Given the description of an element on the screen output the (x, y) to click on. 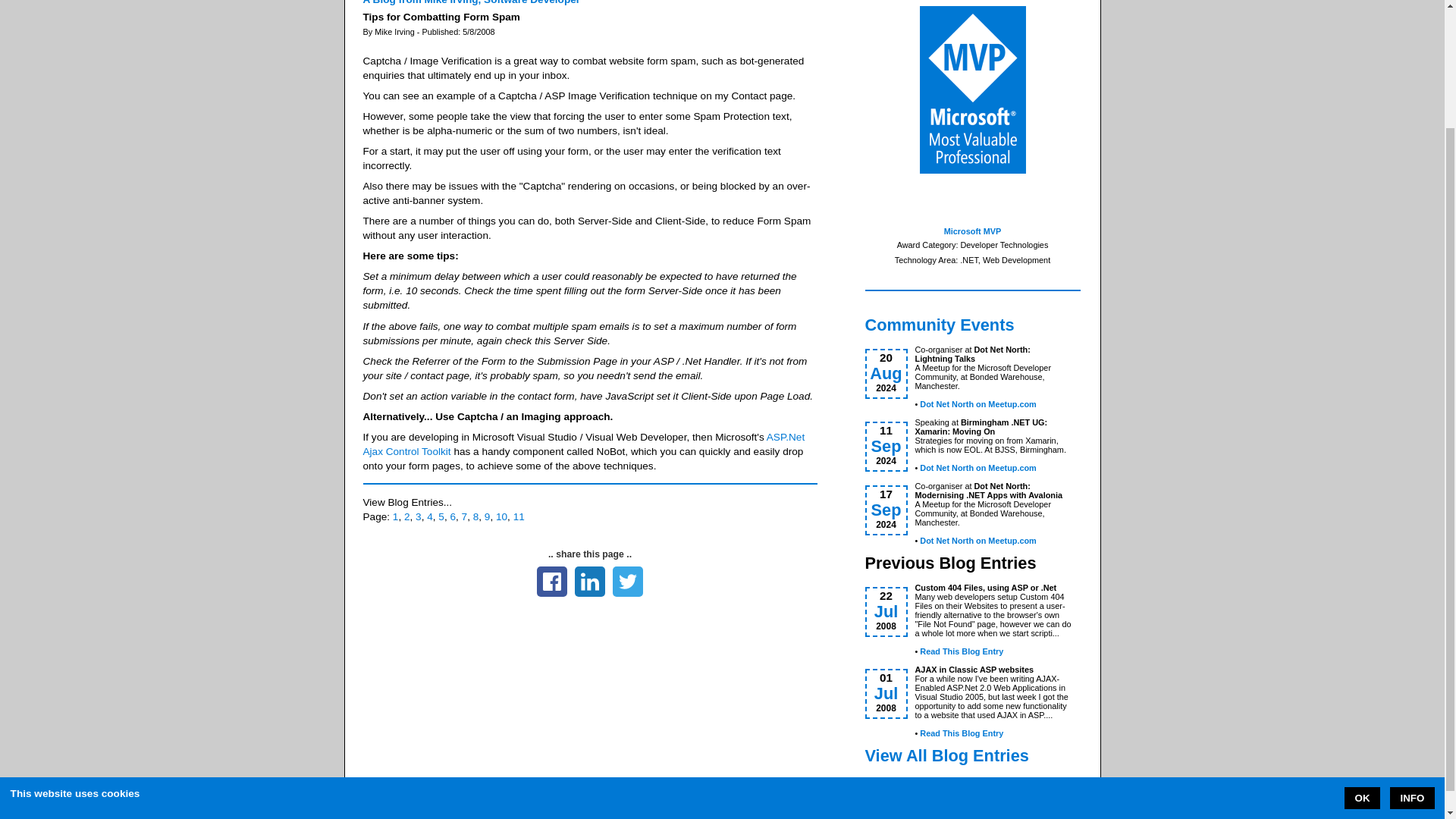
INFO (1412, 652)
Share on LinkedIn (590, 581)
Share on Twitter (627, 581)
11 (518, 516)
ASP.Net Ajax Control Toolkit (583, 444)
10 (501, 516)
View All Blog Entries (981, 755)
OK (1361, 652)
Share on Facebook (552, 581)
